Given the description of an element on the screen output the (x, y) to click on. 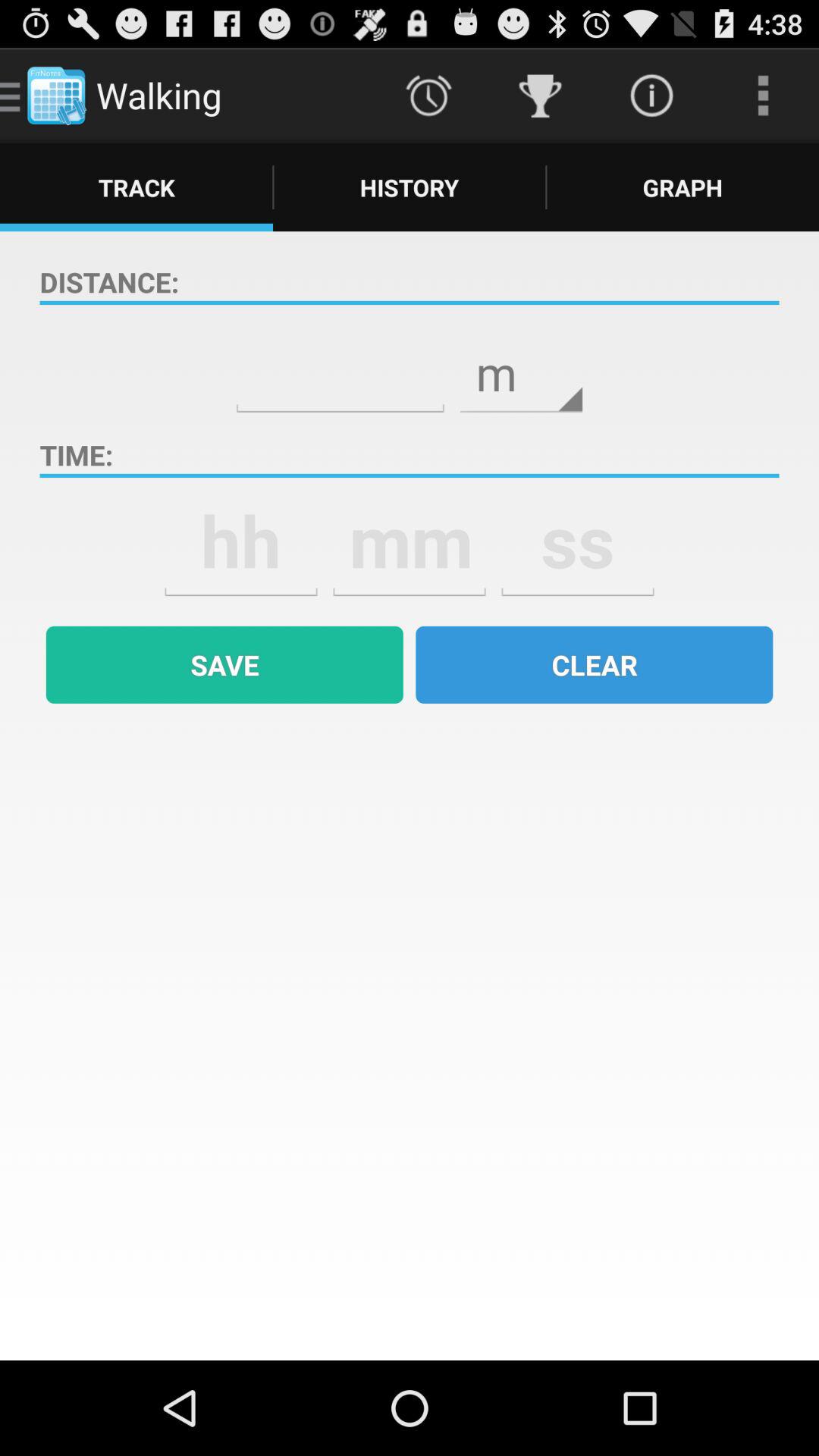
enter the number for distance (340, 362)
